Given the description of an element on the screen output the (x, y) to click on. 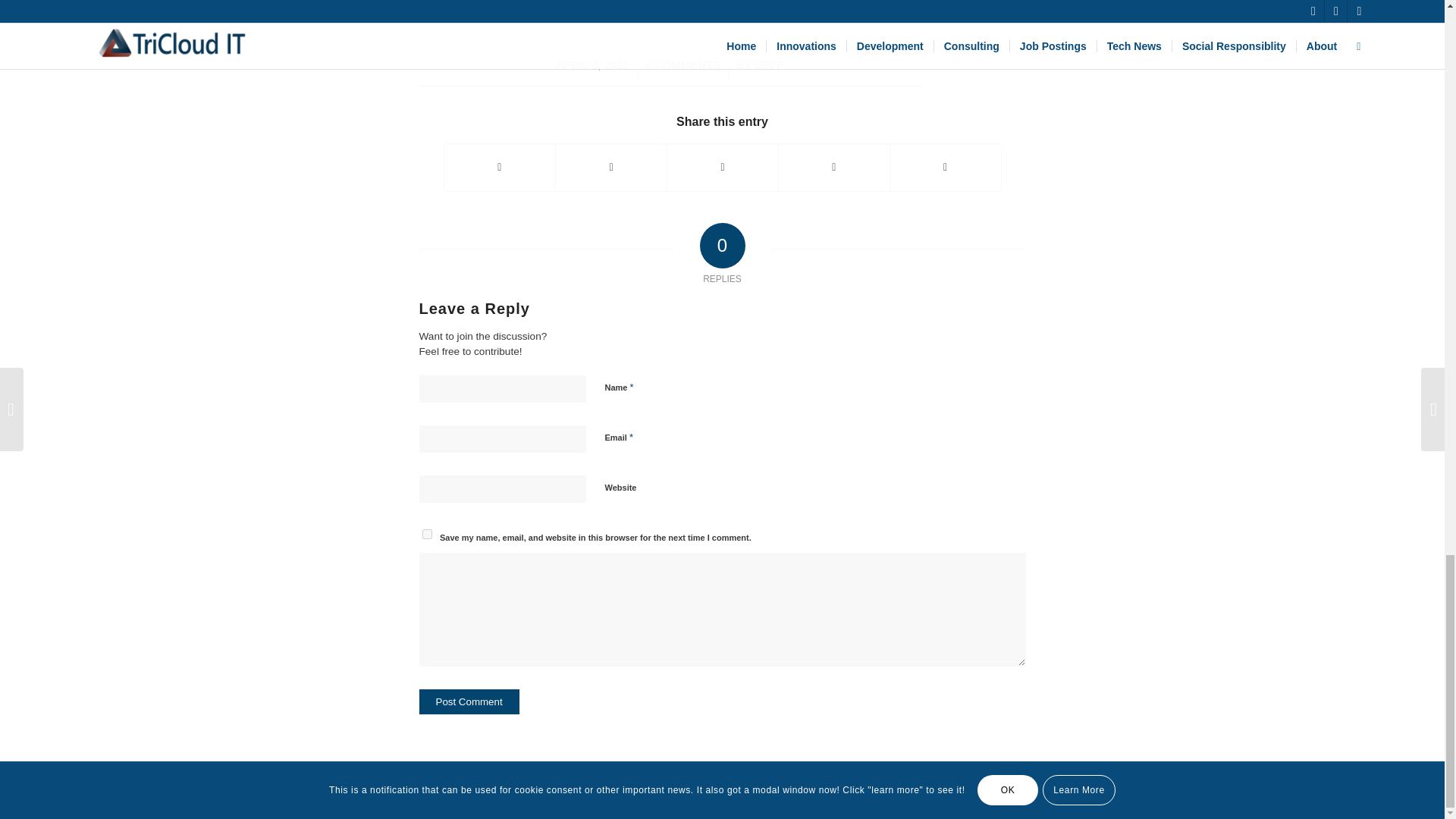
0 COMMENTS (682, 64)
yes (426, 533)
SRI P (769, 64)
Post Comment (468, 701)
Post Comment (468, 701)
Posts by Sri P (769, 64)
